Given the description of an element on the screen output the (x, y) to click on. 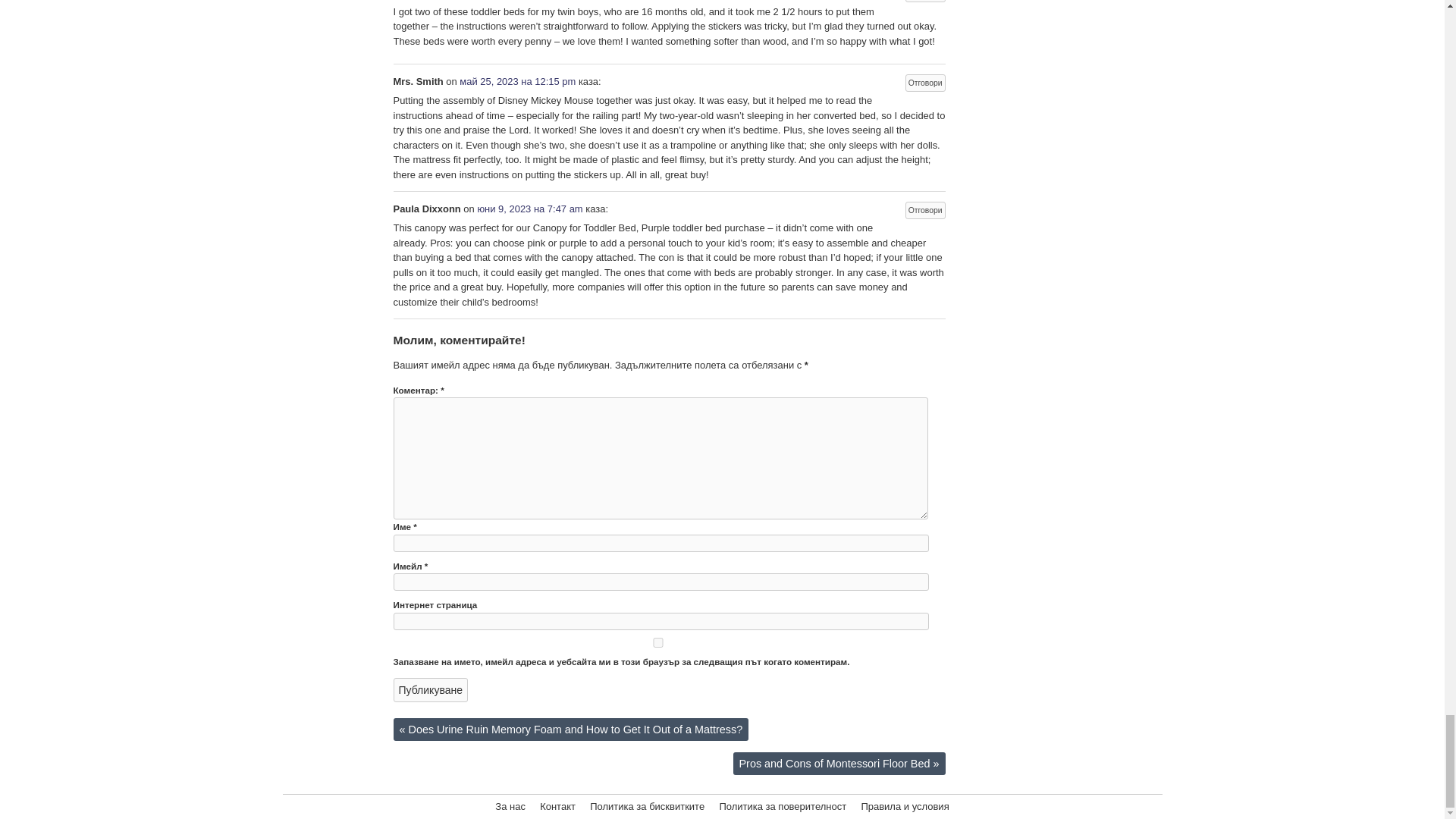
yes (658, 642)
